Given the description of an element on the screen output the (x, y) to click on. 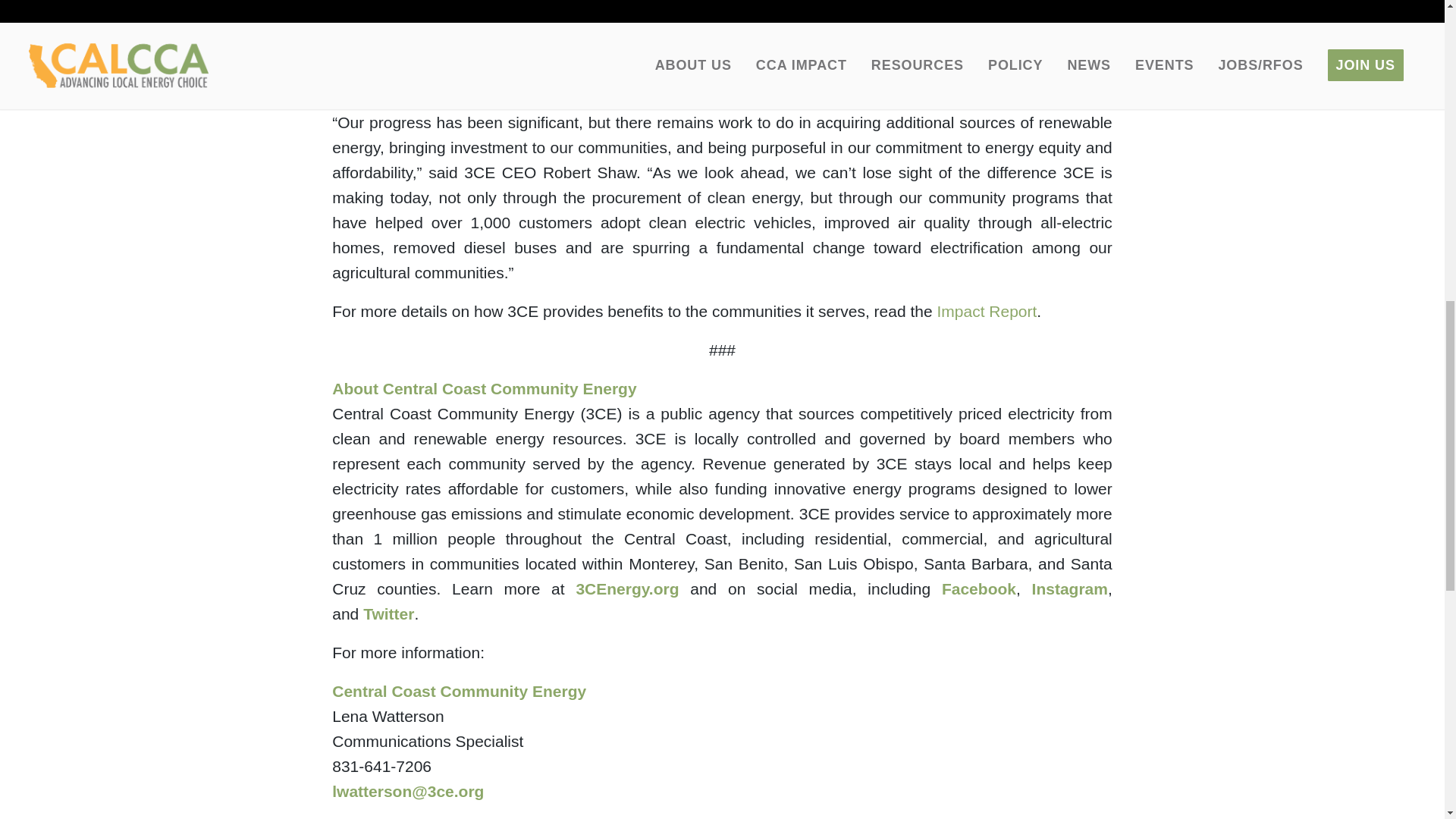
Twitter (387, 613)
Facebook (979, 588)
Impact Report (986, 311)
Instagram (1070, 588)
3CEnergy.org (626, 588)
